Given the description of an element on the screen output the (x, y) to click on. 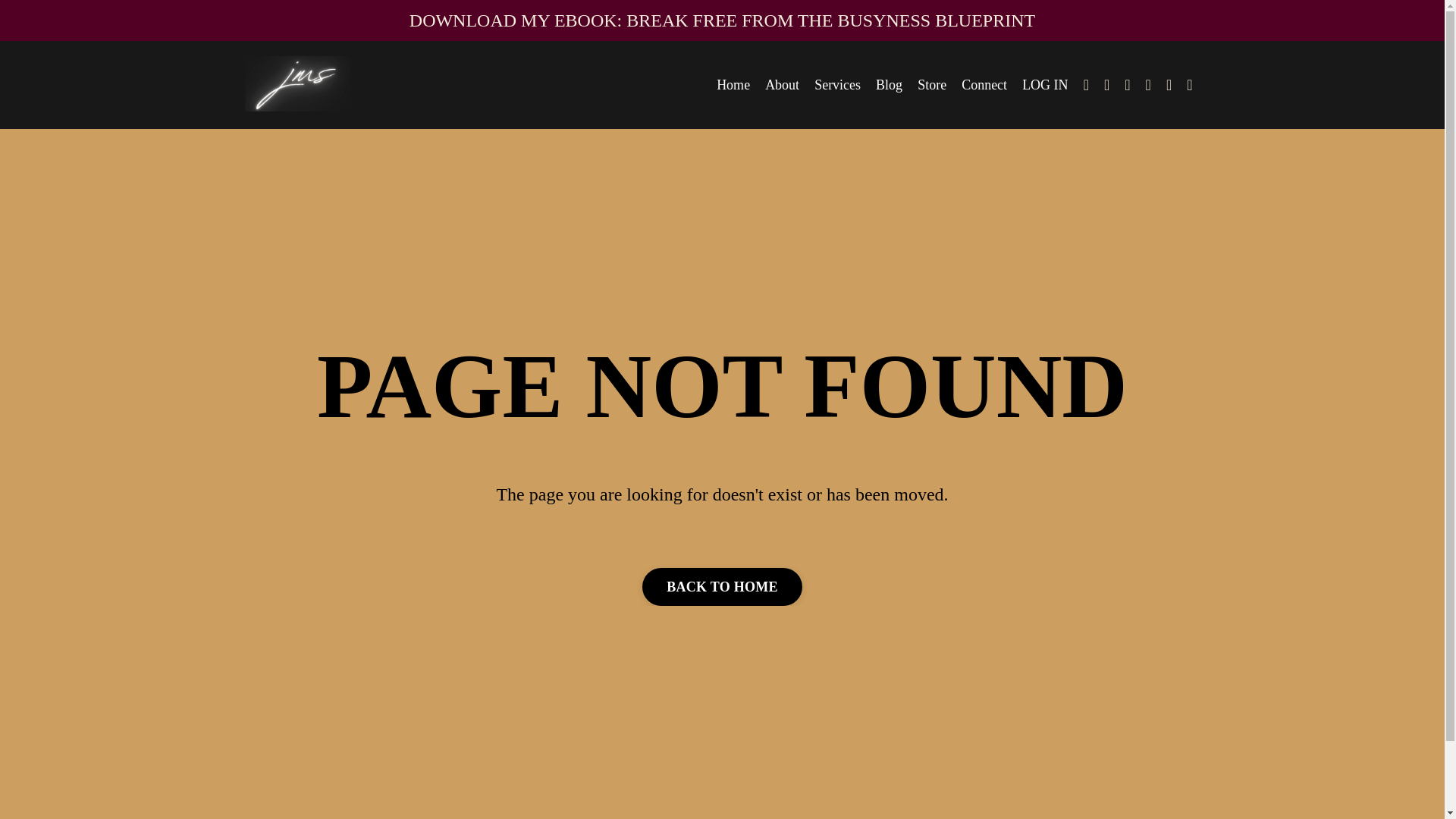
Home (732, 85)
Connect (983, 85)
BACK TO HOME (722, 587)
Blog (889, 85)
LOG IN (1045, 84)
Services (836, 85)
Store (931, 85)
About (782, 85)
